Given the description of an element on the screen output the (x, y) to click on. 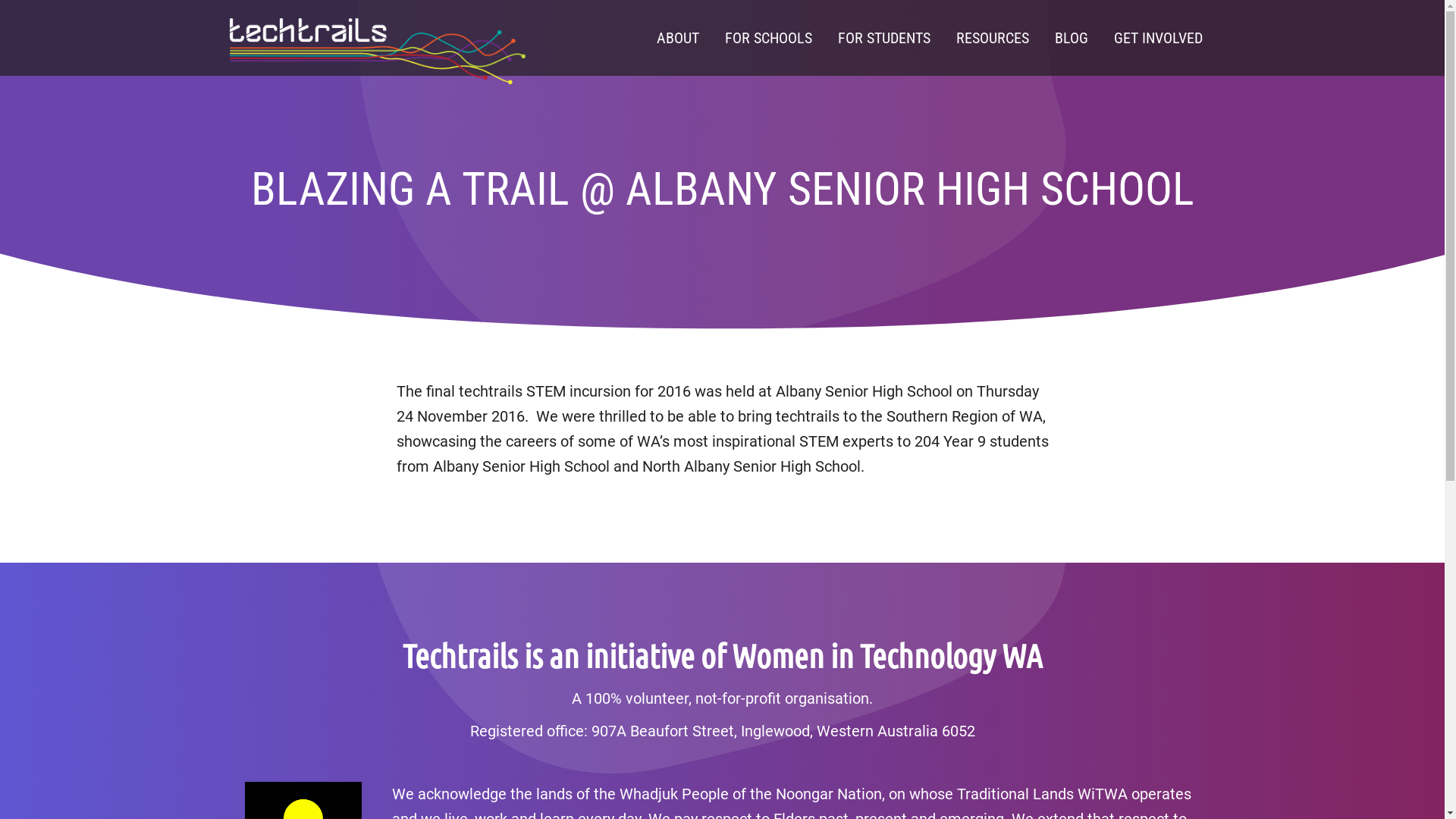
GET INVOLVED Element type: text (1158, 37)
FOR SCHOOLS Element type: text (767, 37)
FOR STUDENTS Element type: text (884, 37)
RESOURCES Element type: text (992, 37)
ABOUT Element type: text (677, 37)
BLOG Element type: text (1071, 37)
